Given the description of an element on the screen output the (x, y) to click on. 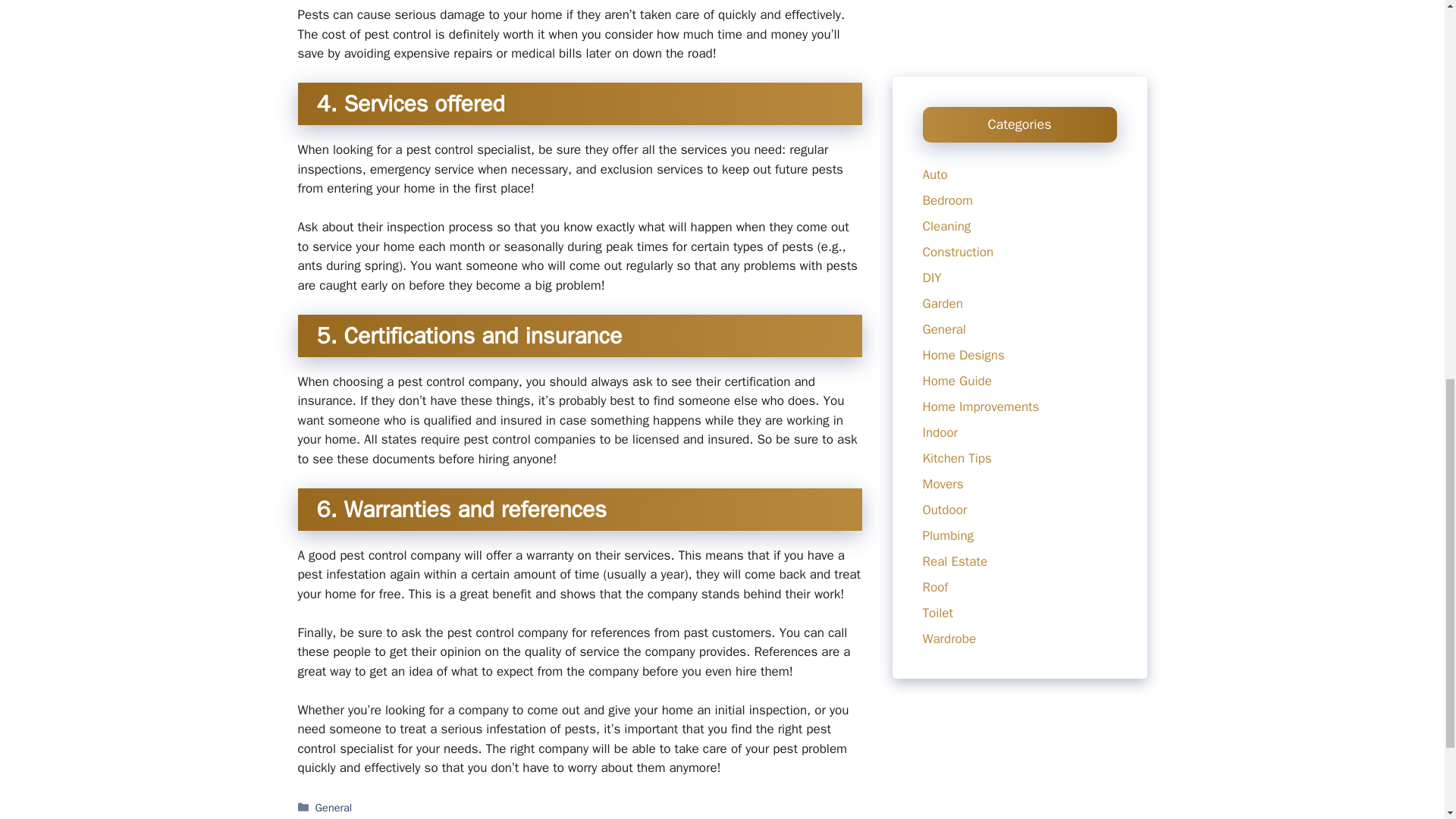
pest infestation (689, 817)
General (333, 807)
pest control companies (371, 817)
pest control specialist (593, 817)
pest control services (482, 817)
termite infestations (780, 817)
